Given the description of an element on the screen output the (x, y) to click on. 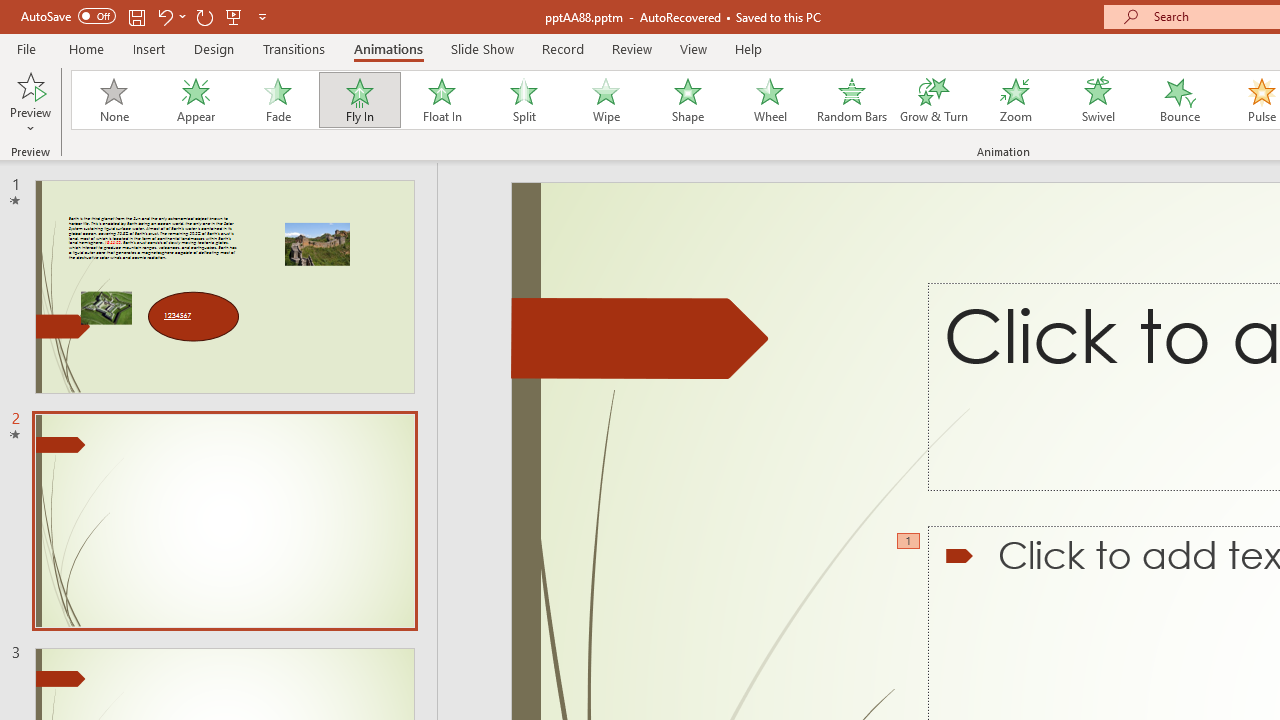
None (113, 100)
Shape (687, 100)
Animation, sequence 1, on Content Placeholder 2 (909, 542)
Grow & Turn (934, 100)
Wheel (770, 100)
Swivel (1098, 100)
